Given the description of an element on the screen output the (x, y) to click on. 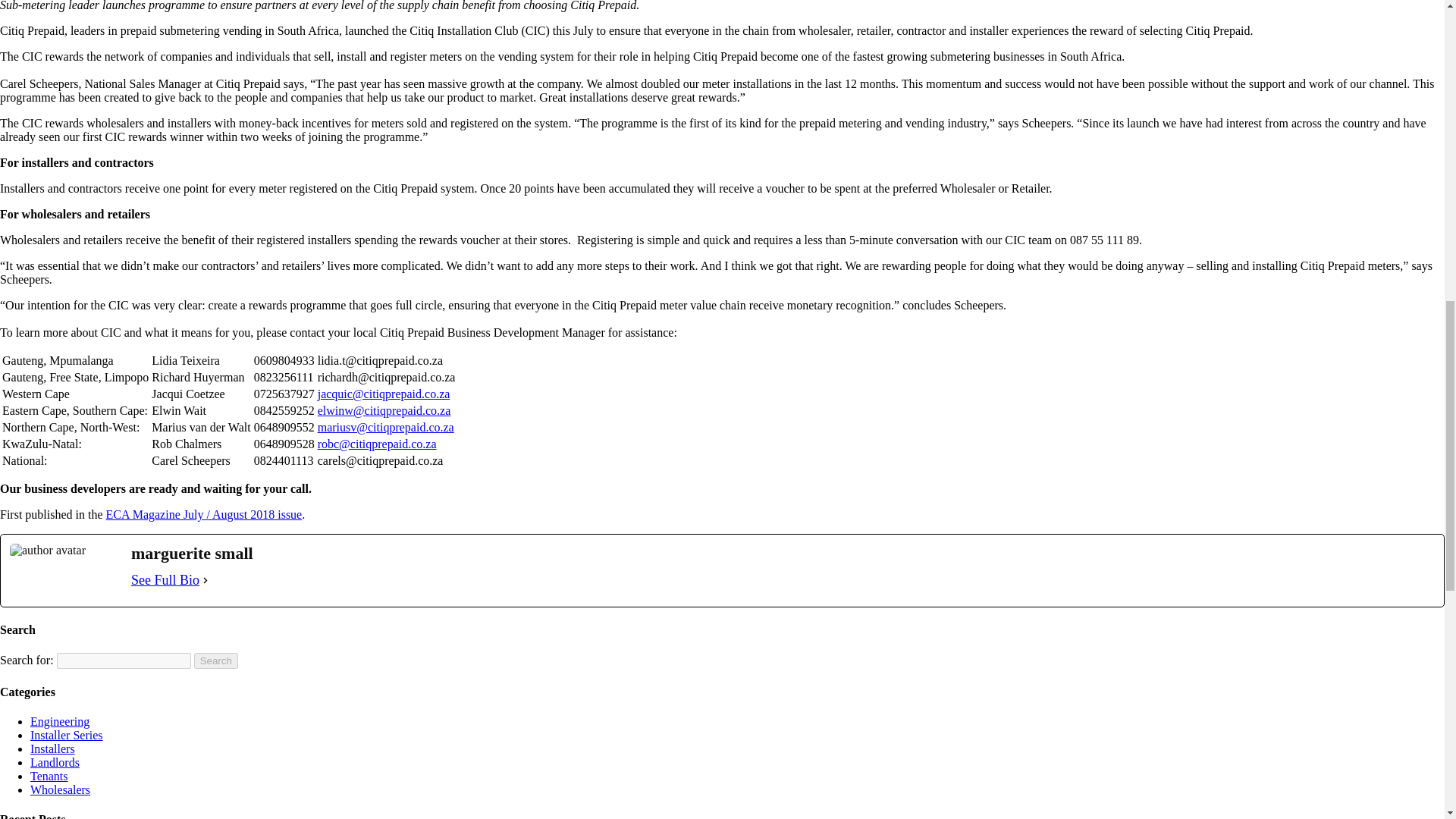
See Full Bio (165, 580)
Wholesalers (60, 789)
Search (215, 660)
Tenants (49, 775)
Landlords (55, 762)
Engineering (59, 721)
Installers (52, 748)
Search (215, 660)
Installer Series (66, 735)
